Given the description of an element on the screen output the (x, y) to click on. 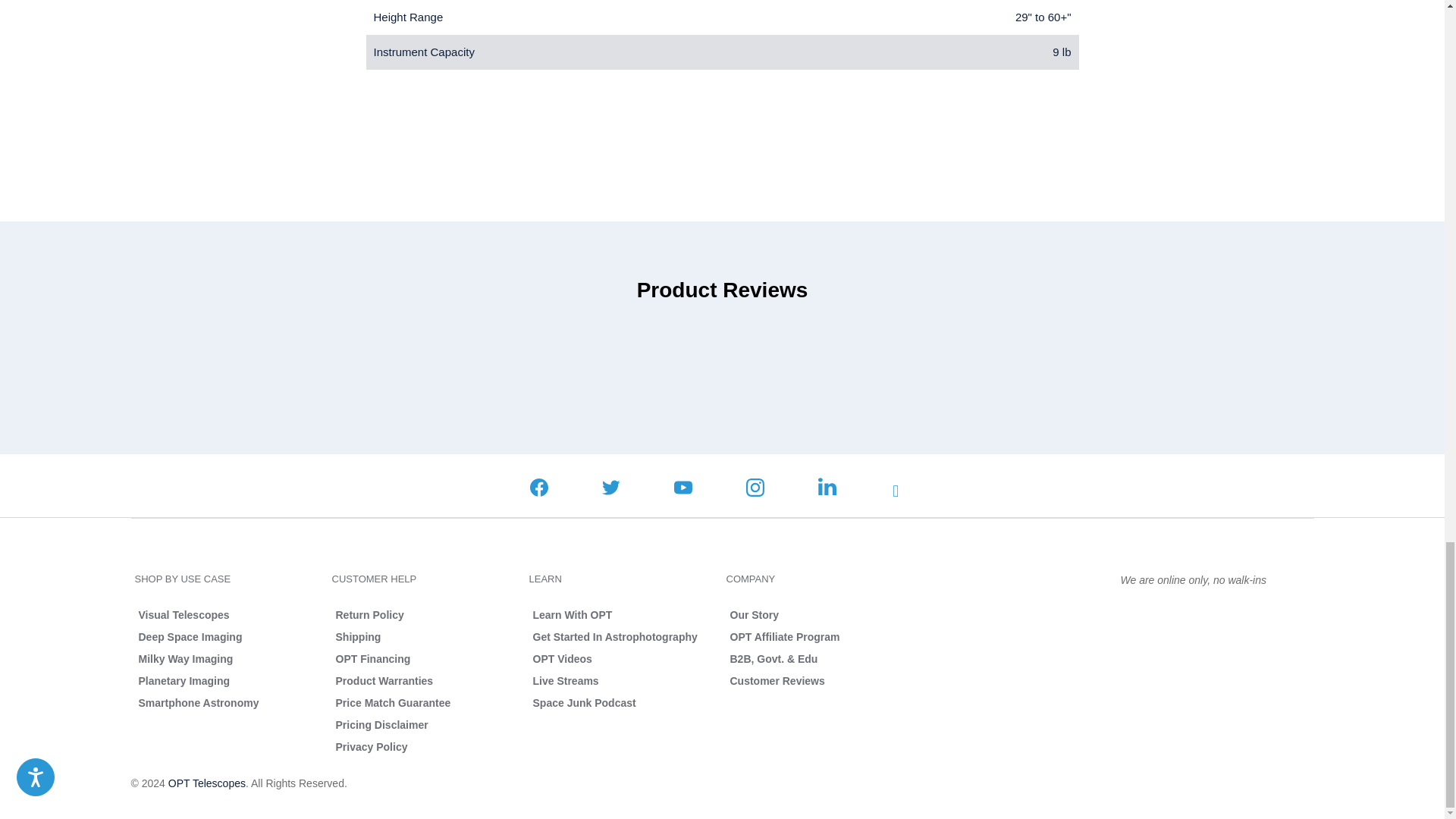
OPT Telescopes on YouTube (683, 489)
OPT Telescopes on Instagram (754, 489)
OPT Telescopes on Twitter (611, 489)
OPT Telescopes on Pinterest (900, 491)
OPT Telescopes on LinkedIn (826, 488)
OPT Telescopes on Facebook (538, 489)
